Given the description of an element on the screen output the (x, y) to click on. 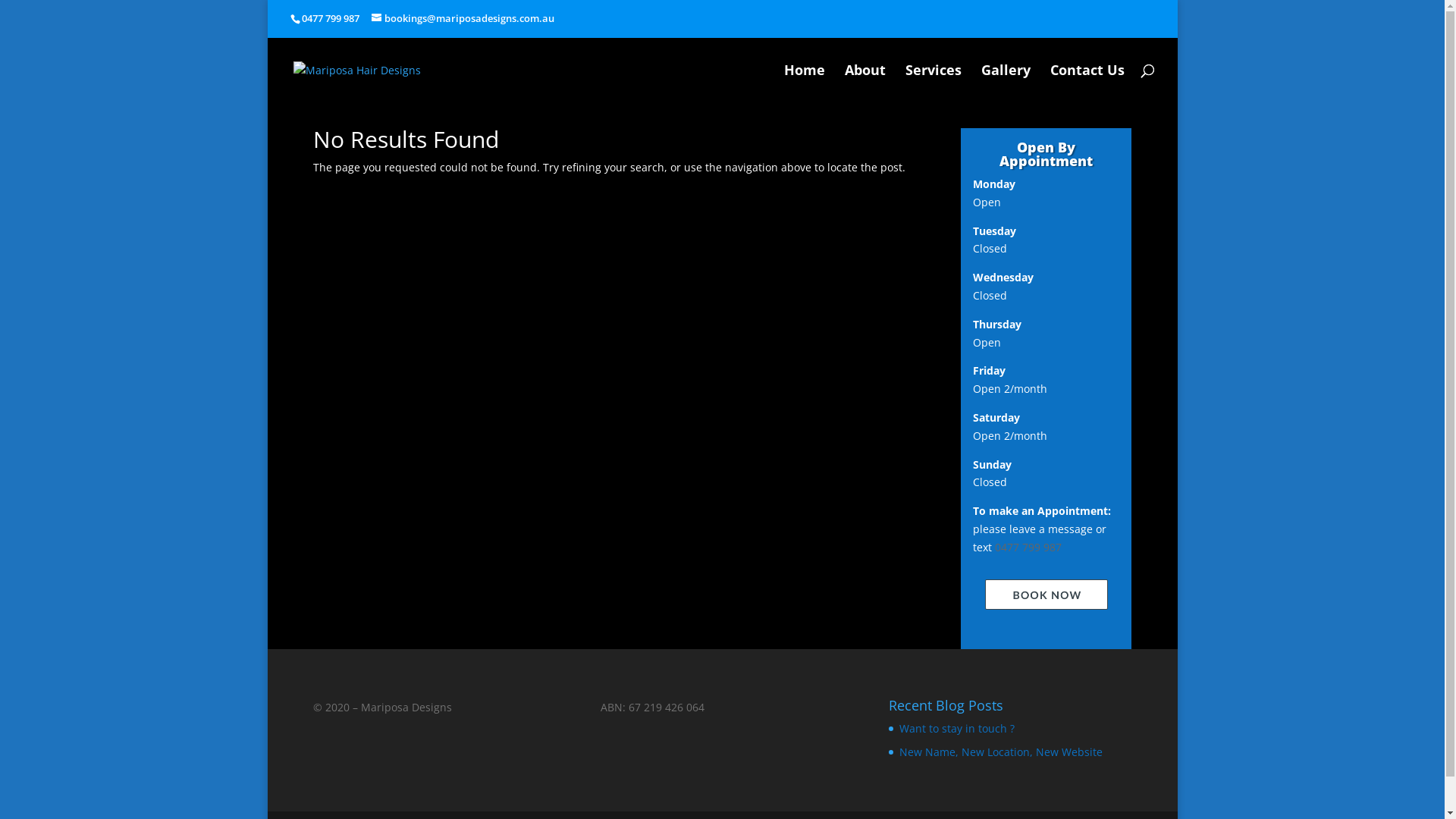
Home Element type: text (804, 90)
Services Element type: text (933, 90)
Gallery Element type: text (1005, 90)
Contact Us Element type: text (1086, 90)
0477 799 987 Element type: text (330, 18)
New Name, New Location, New Website Element type: text (1000, 751)
0477 799 987  Element type: text (1029, 546)
bookings@mariposadesigns.com.au Element type: text (462, 18)
About Element type: text (864, 90)
Want to stay in touch ? Element type: text (956, 728)
